Given the description of an element on the screen output the (x, y) to click on. 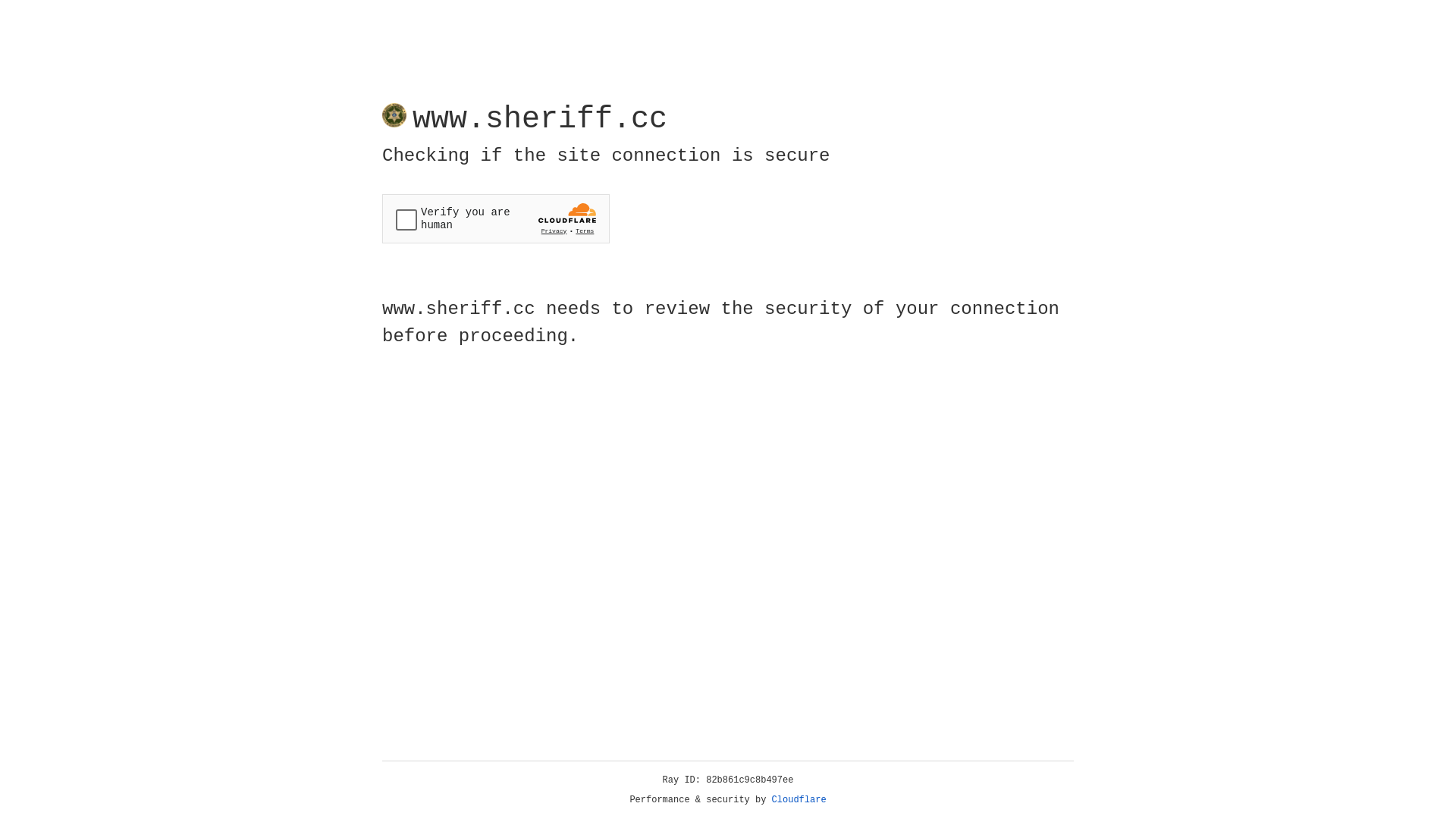
Widget containing a Cloudflare security challenge Element type: hover (495, 218)
Cloudflare Element type: text (798, 799)
